Given the description of an element on the screen output the (x, y) to click on. 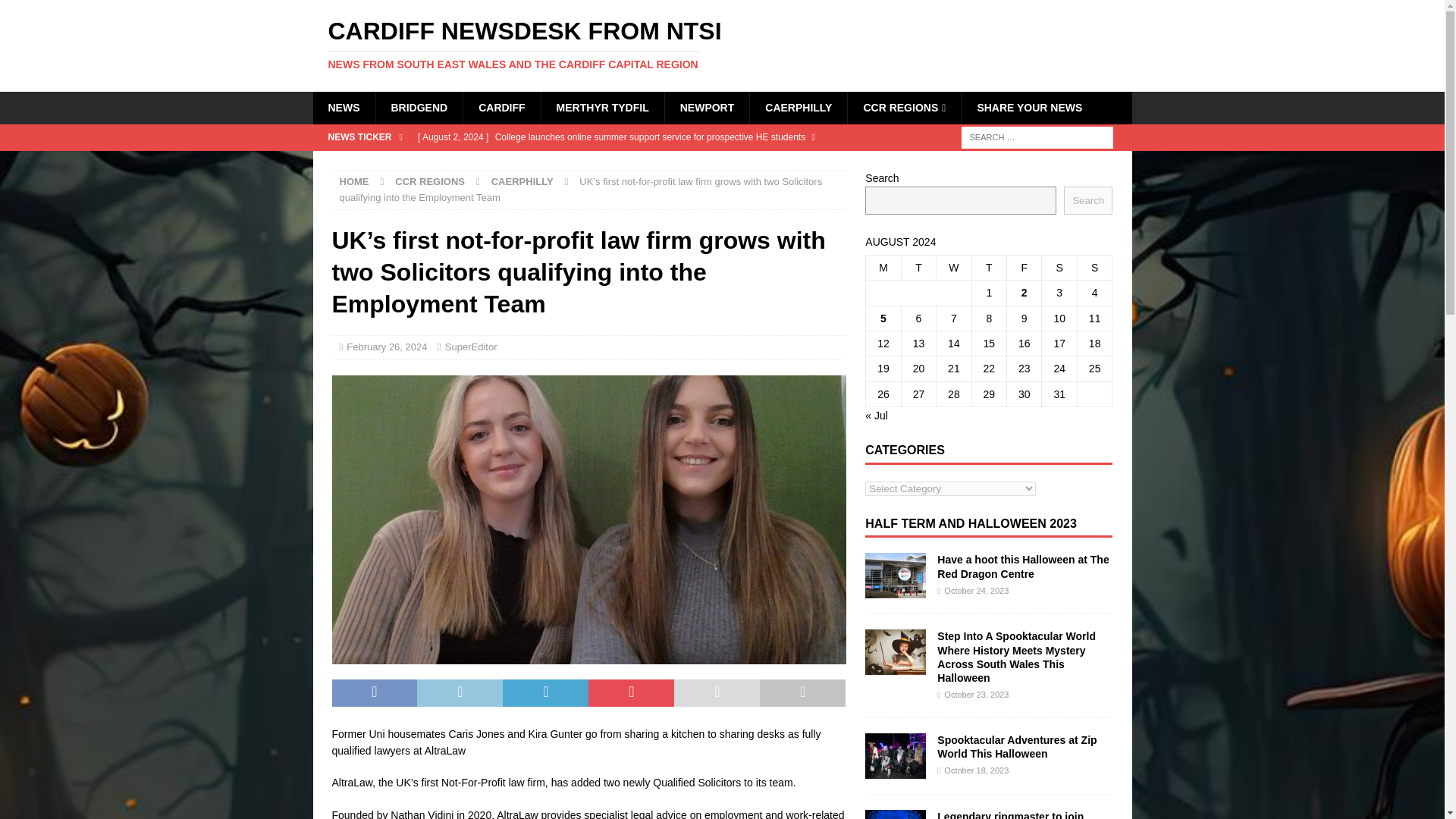
MERTHYR TYDFIL (601, 107)
BRIDGEND (418, 107)
CCR REGIONS (903, 107)
CAERPHILLY (798, 107)
Cardiff Newsdesk from ntsi (721, 44)
NEWPORT (706, 107)
SHARE YOUR NEWS (1028, 107)
